Given the description of an element on the screen output the (x, y) to click on. 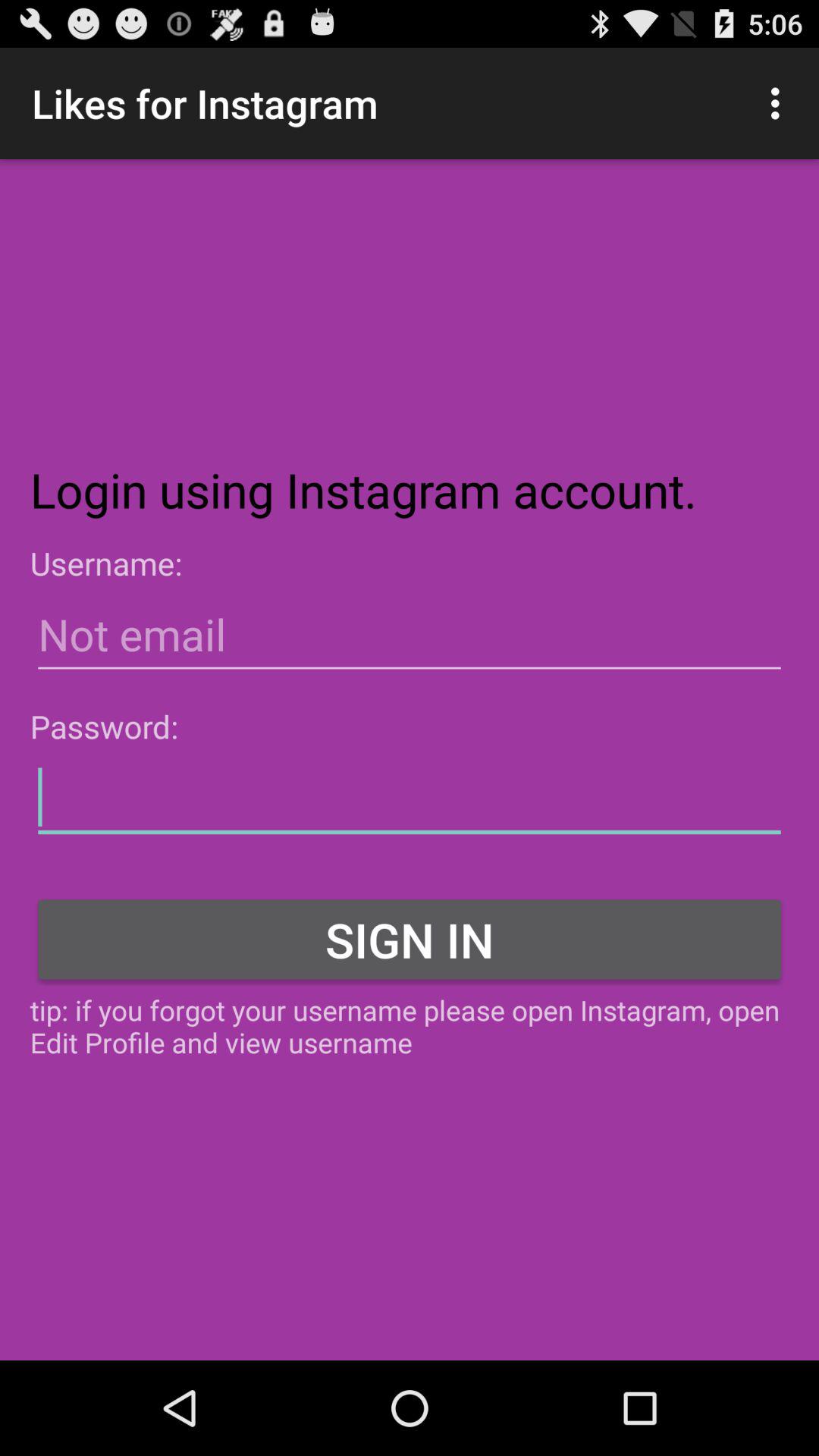
jump to the sign in (409, 939)
